Given the description of an element on the screen output the (x, y) to click on. 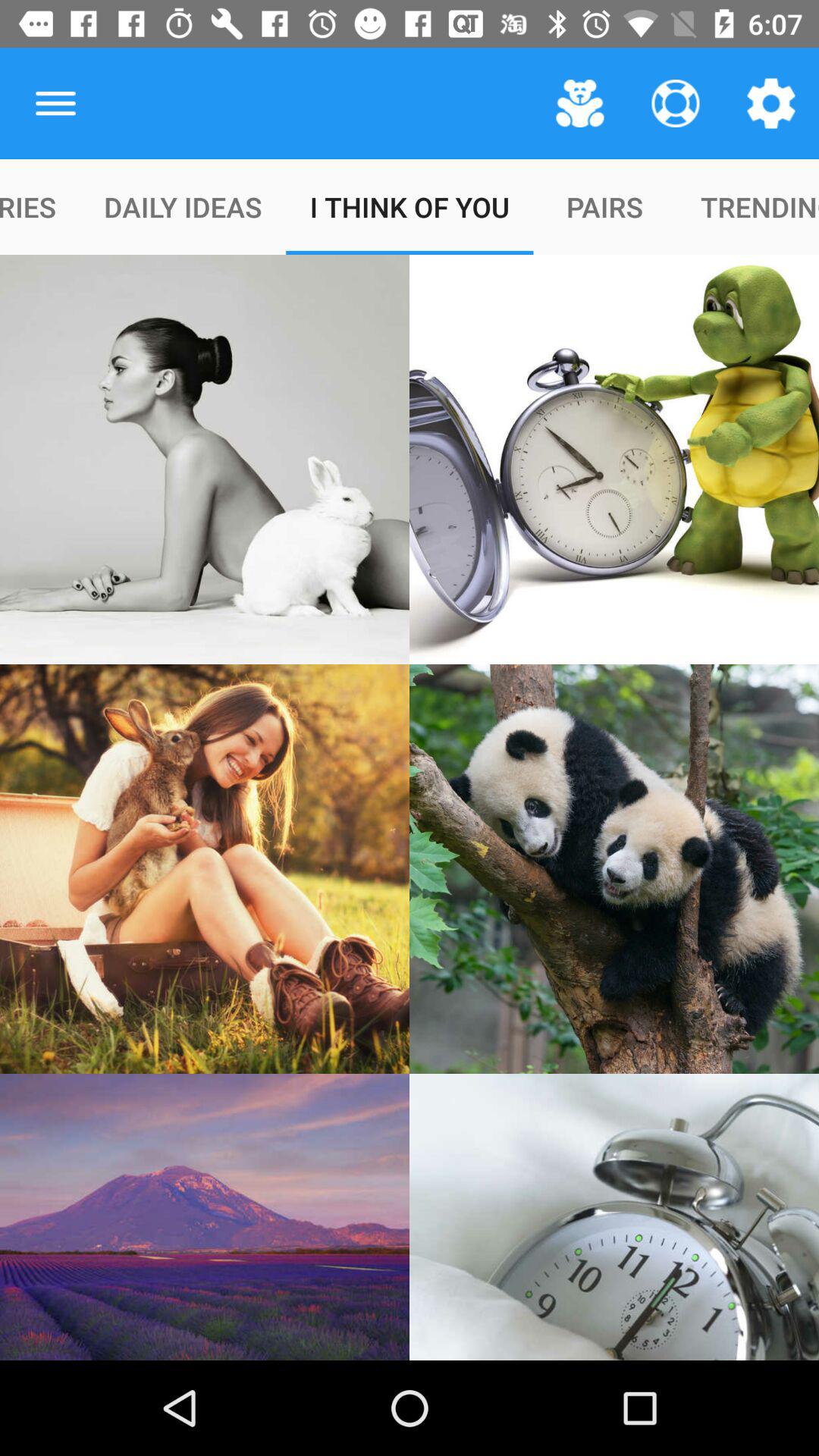
turn on the item above the pairs (675, 103)
